Given the description of an element on the screen output the (x, y) to click on. 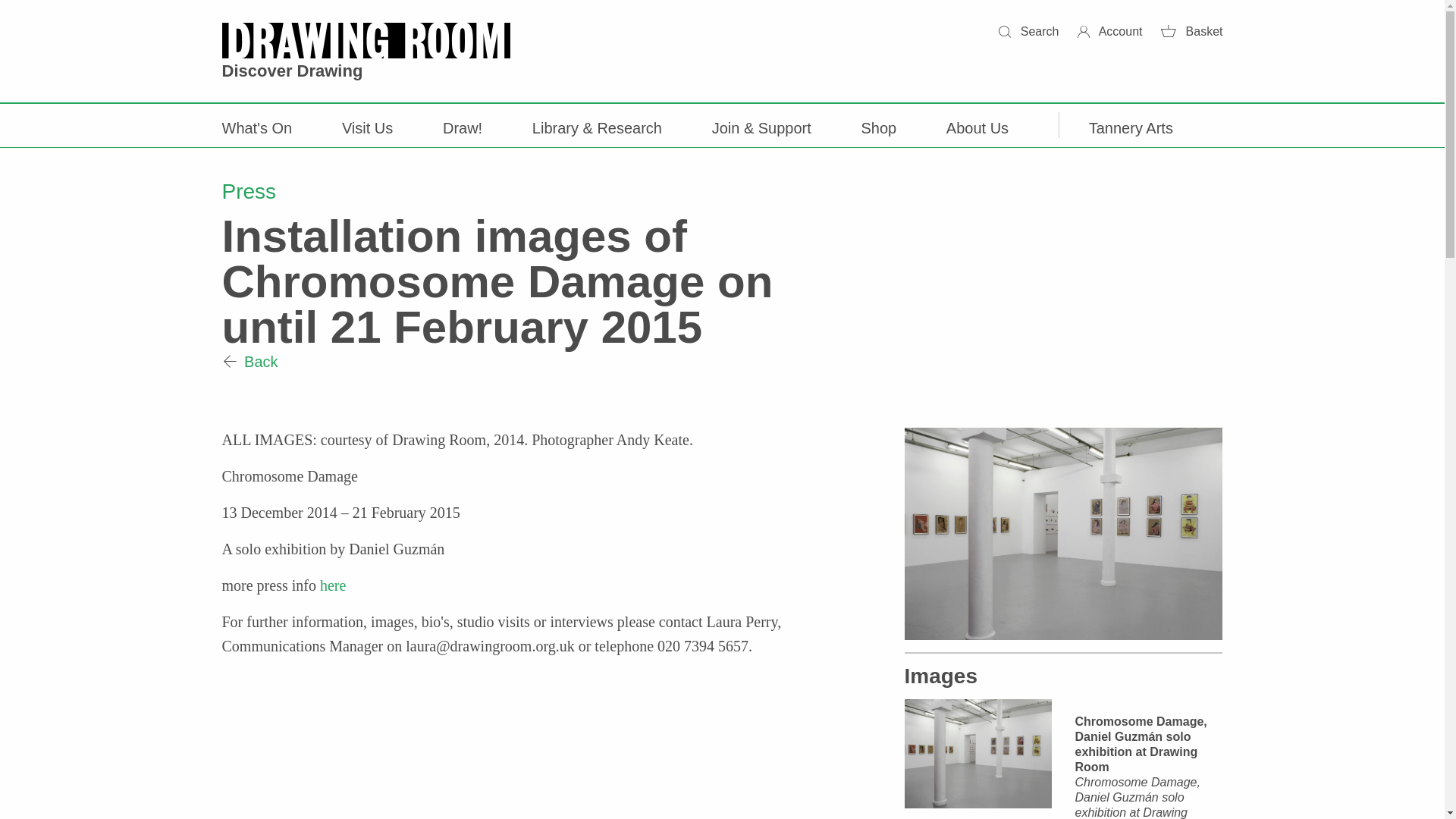
What's On (256, 125)
About Us (977, 125)
Draw! (461, 125)
Basket (1191, 31)
Search (1028, 31)
Account (1109, 31)
Visit Us (367, 125)
